Given the description of an element on the screen output the (x, y) to click on. 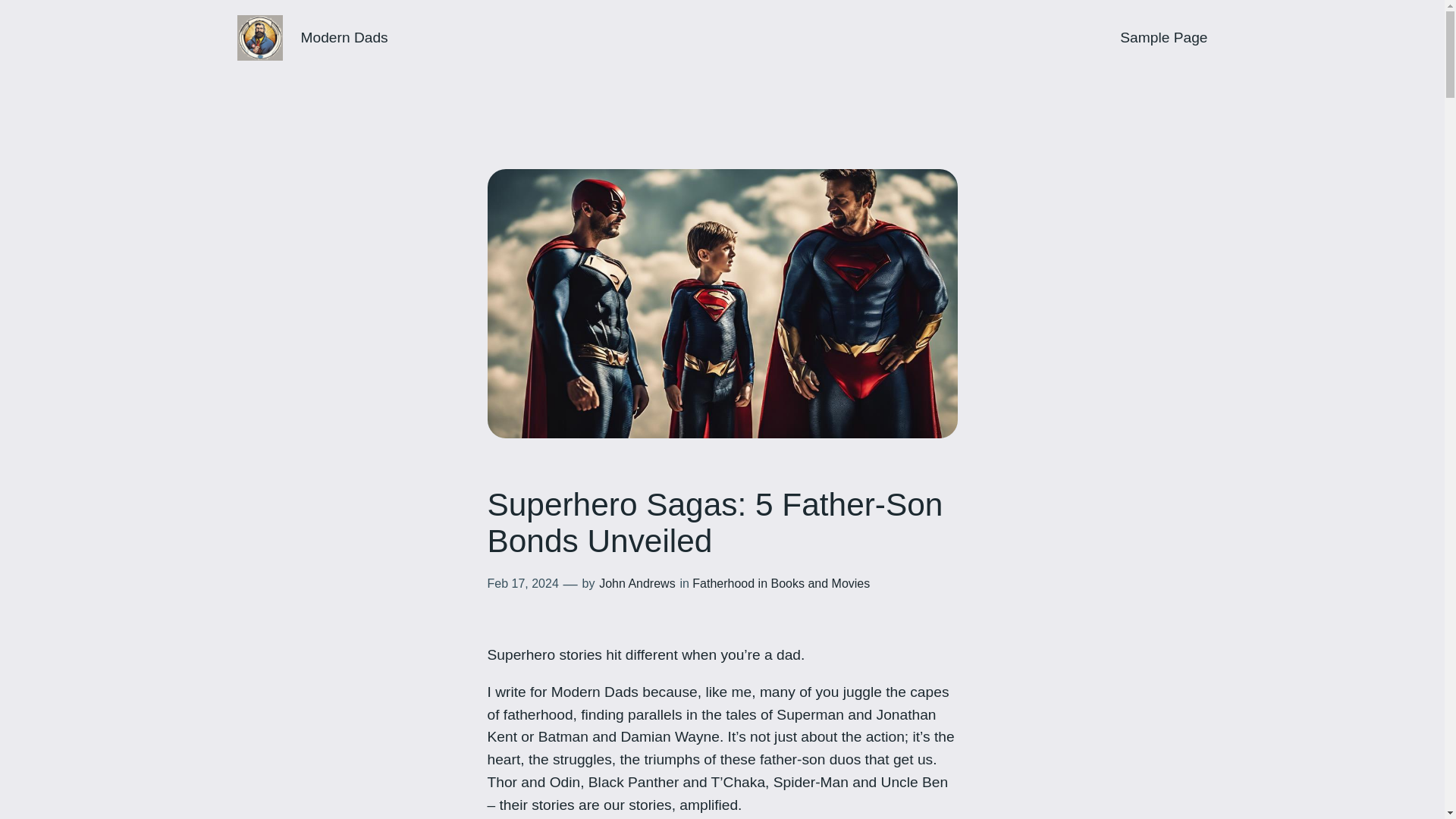
John Andrews (636, 583)
Sample Page (1163, 37)
Modern Dads (343, 37)
Feb 17, 2024 (521, 583)
Fatherhood in Books and Movies (781, 583)
